Given the description of an element on the screen output the (x, y) to click on. 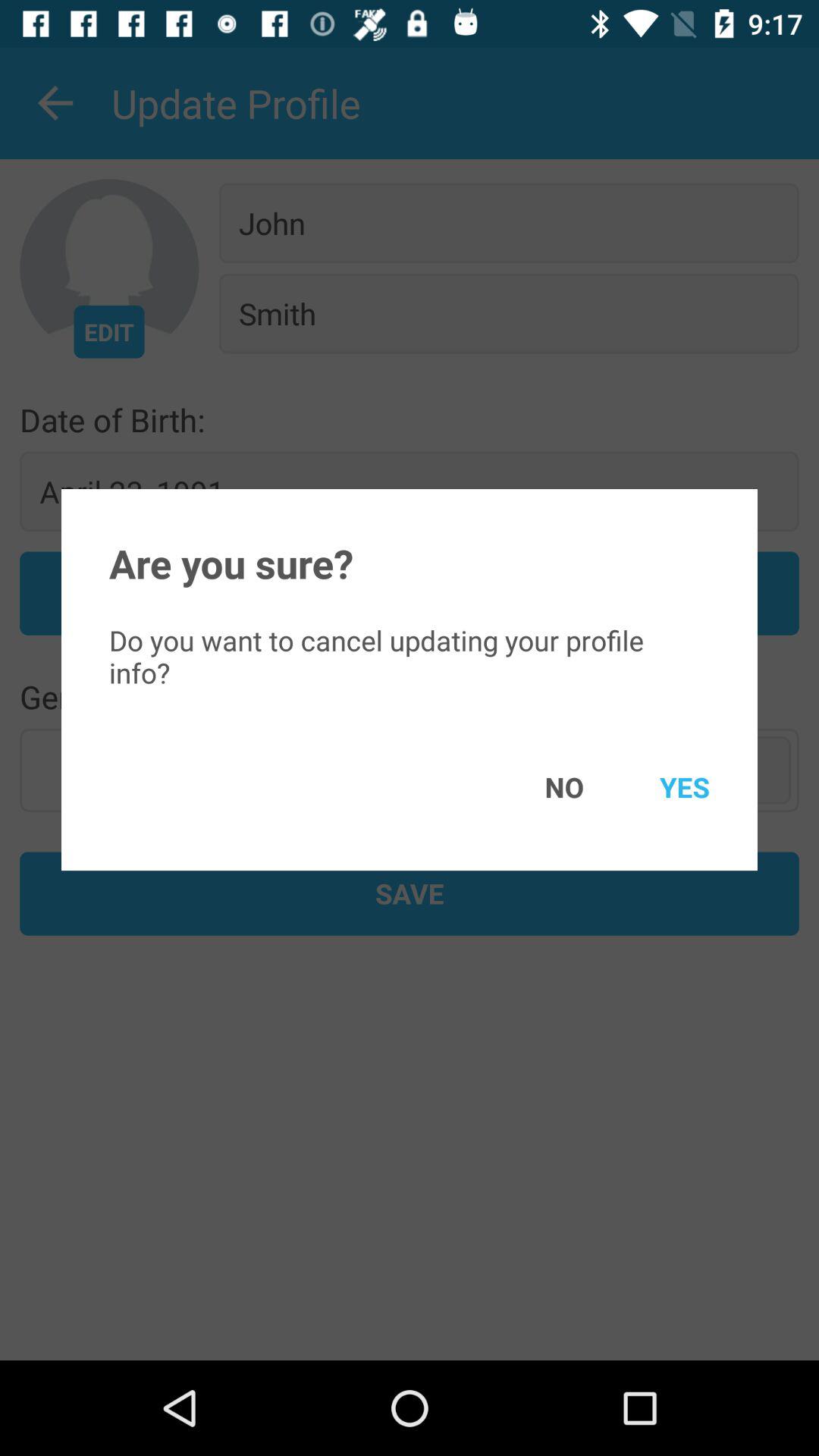
turn off the item next to the yes item (542, 786)
